Given the description of an element on the screen output the (x, y) to click on. 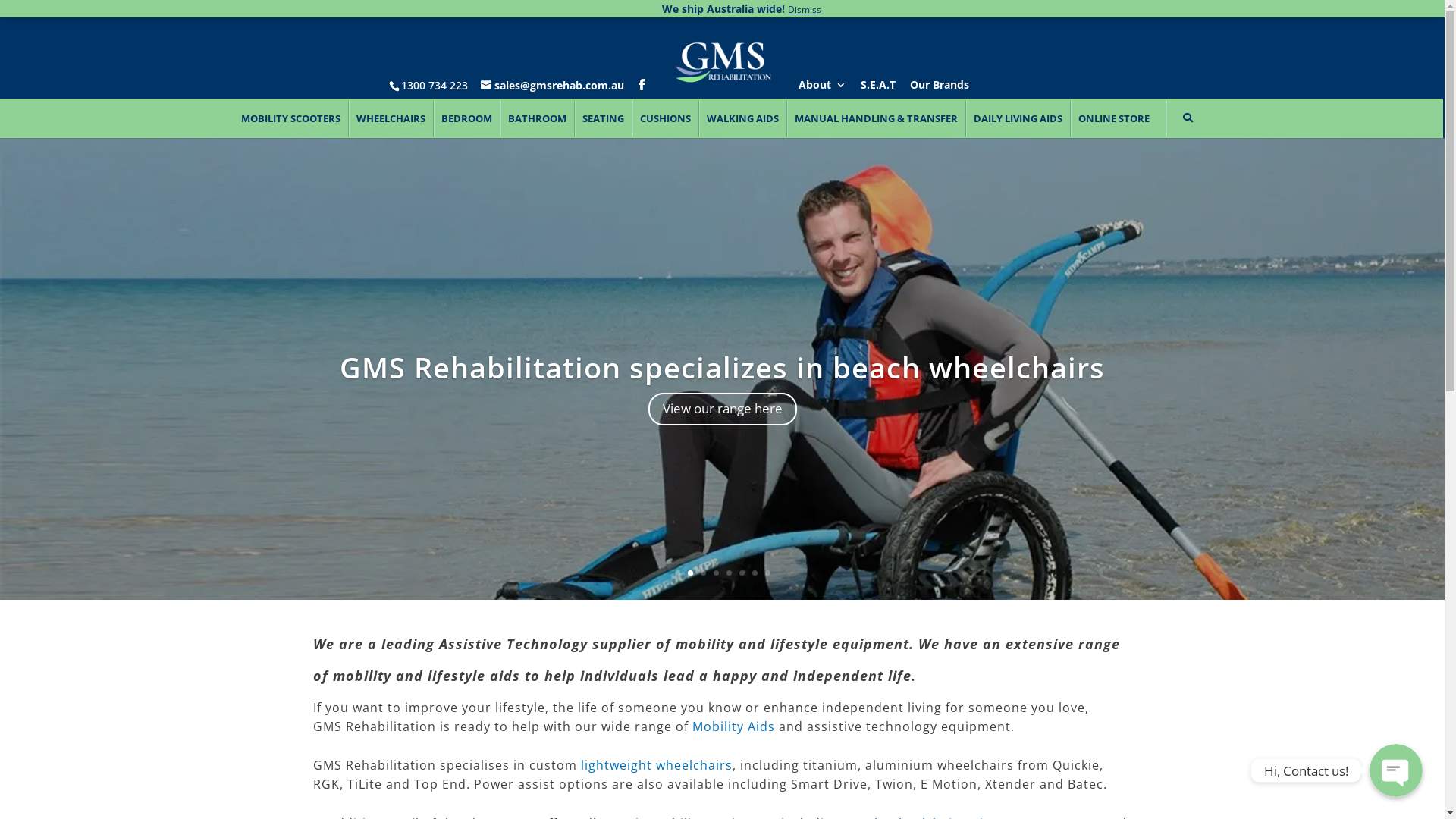
sales@gmsrehab.com.au Element type: text (552, 84)
BATHROOM Element type: text (536, 118)
About Element type: text (821, 87)
2 Element type: text (689, 572)
MANUAL HANDLING & TRANSFER Element type: text (875, 118)
4 Element type: text (715, 572)
WHEELCHAIRS Element type: text (390, 118)
5 Element type: text (728, 572)
Dismiss Element type: text (803, 9)
3 Element type: text (703, 572)
8 Element type: text (766, 572)
SEATING Element type: text (602, 118)
lightweight wheelchairs Element type: text (656, 764)
1 Element type: text (677, 572)
6 Element type: text (740, 572)
WALKING AIDS Element type: text (742, 118)
S.E.A.T Element type: text (876, 87)
GMS Rehabilitation specializes in beach wheelchairs Element type: text (721, 366)
Our Brands Element type: text (939, 87)
DAILY LIVING AIDS Element type: text (1017, 118)
CUSHIONS Element type: text (664, 118)
7 Element type: text (754, 572)
MOBILITY SCOOTERS Element type: text (290, 118)
View our range here Element type: text (721, 408)
Mobility Aids Element type: text (732, 726)
BEDROOM Element type: text (466, 118)
